Given the description of an element on the screen output the (x, y) to click on. 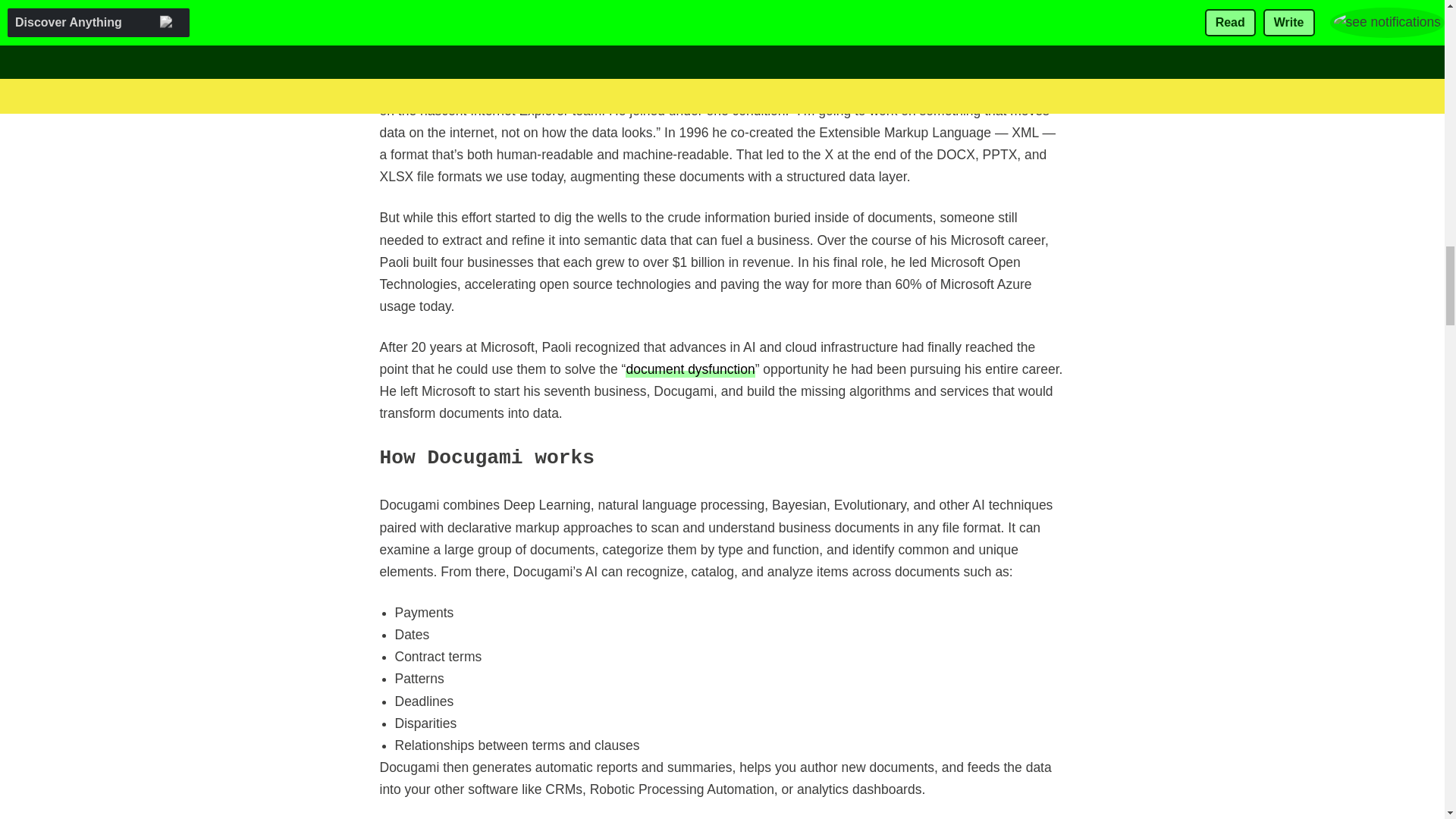
document dysfunction (690, 368)
James Duncan Davidson (875, 47)
